Given the description of an element on the screen output the (x, y) to click on. 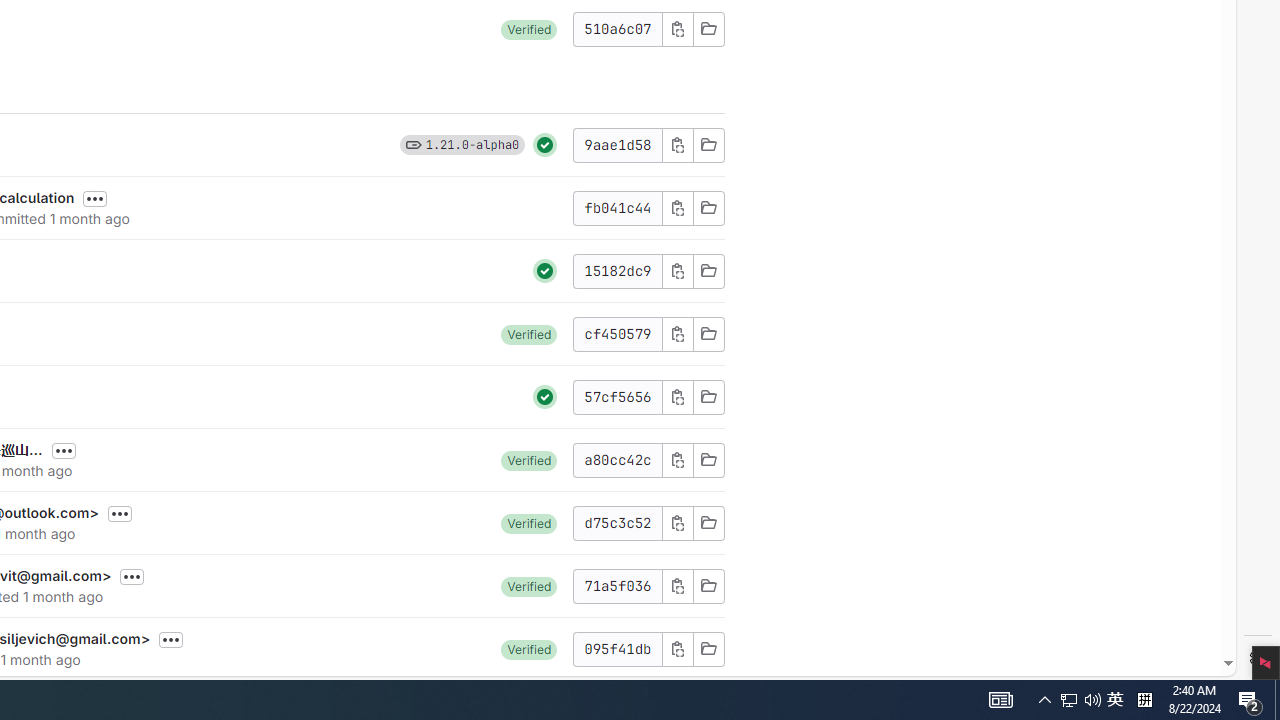
Pipeline: passed (545, 396)
Class: s24 gl-icon (545, 396)
Class: s16 gl-icon gl-button-icon  (677, 648)
Browse Files (708, 648)
1.21.0-alpha0 (471, 144)
Verified (529, 648)
Class: s16 (708, 648)
Toggle commit description (171, 640)
Copy commit SHA (676, 648)
Class: s16 gl-icon gl-badge-icon (413, 144)
